Given the description of an element on the screen output the (x, y) to click on. 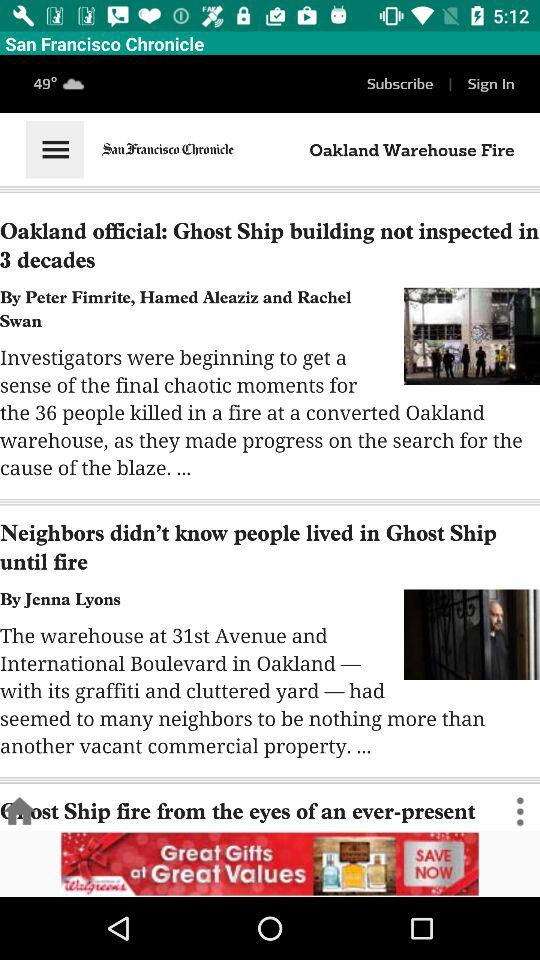
enlarge the page (270, 443)
